Given the description of an element on the screen output the (x, y) to click on. 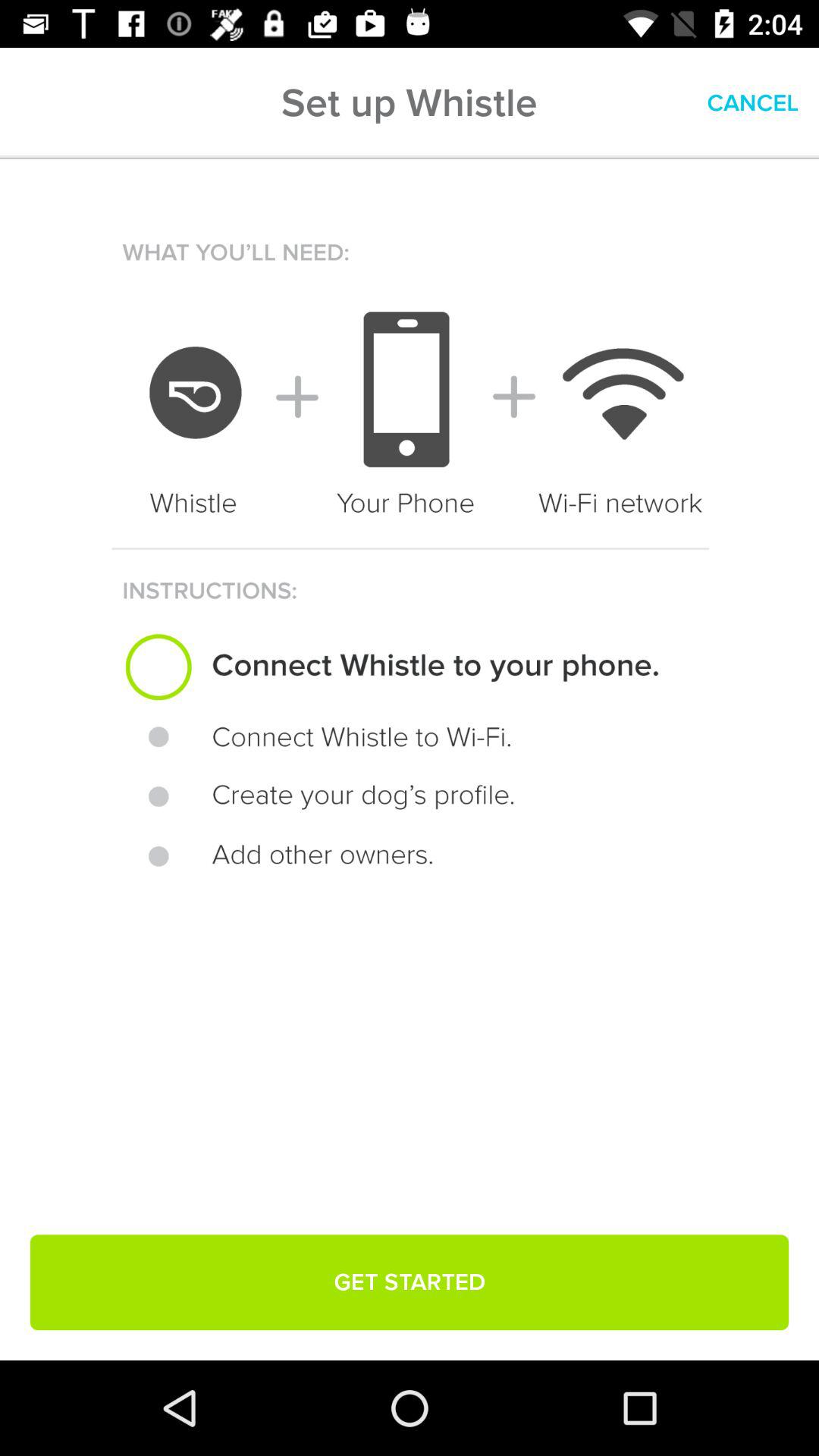
flip to cancel (753, 103)
